Given the description of an element on the screen output the (x, y) to click on. 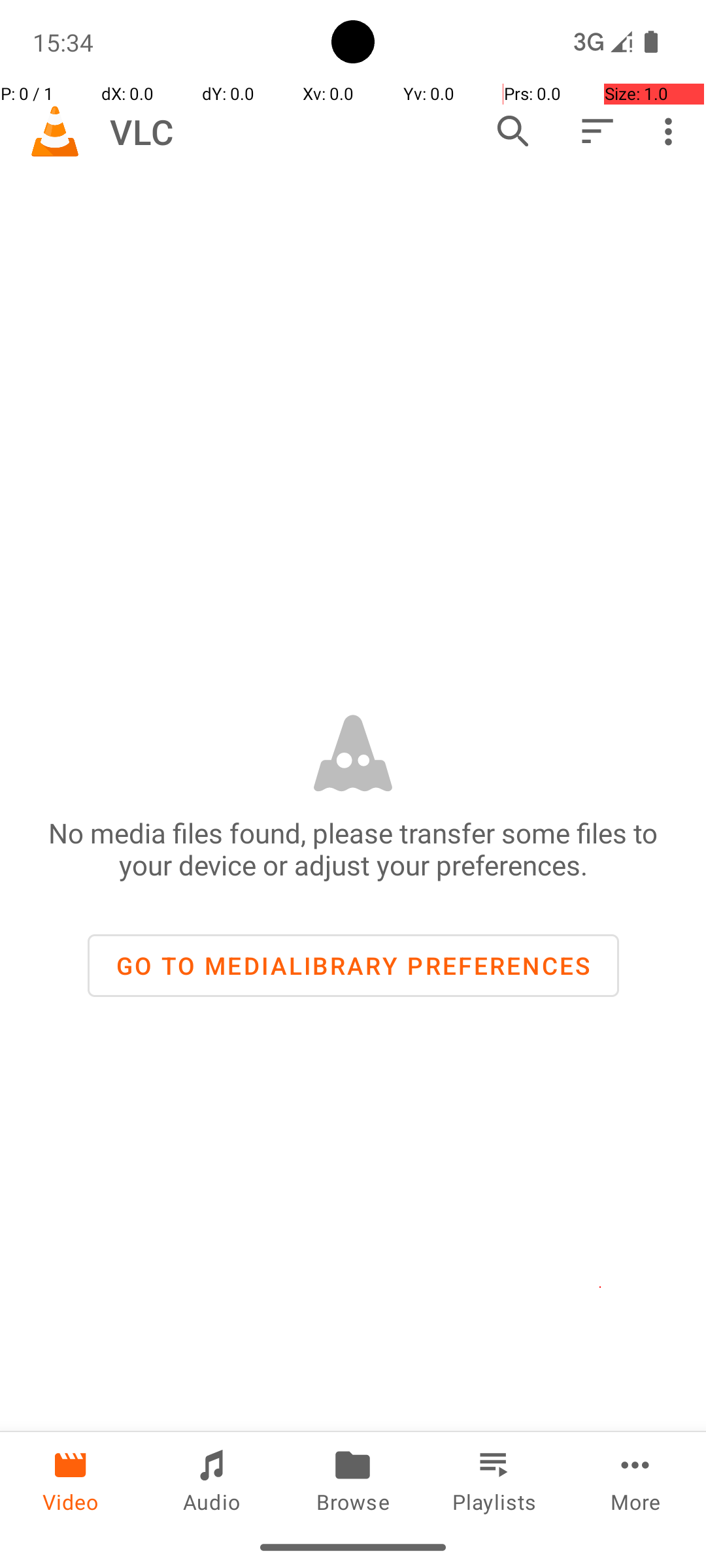
Search… Element type: android.widget.TextView (512, 131)
Sort by… Element type: android.widget.TextView (595, 131)
More options Element type: android.widget.ImageView (671, 131)
No media files found, please transfer some files to your device or adjust your preferences. Element type: android.widget.TextView (352, 848)
GO TO MEDIALIBRARY PREFERENCES Element type: android.widget.Button (353, 965)
Video Element type: android.widget.FrameLayout (70, 1478)
Audio Element type: android.widget.FrameLayout (211, 1478)
Browse Element type: android.widget.FrameLayout (352, 1478)
Playlists Element type: android.widget.FrameLayout (493, 1478)
More Element type: android.widget.FrameLayout (635, 1478)
Phone two bars. Element type: android.widget.FrameLayout (600, 41)
